Given the description of an element on the screen output the (x, y) to click on. 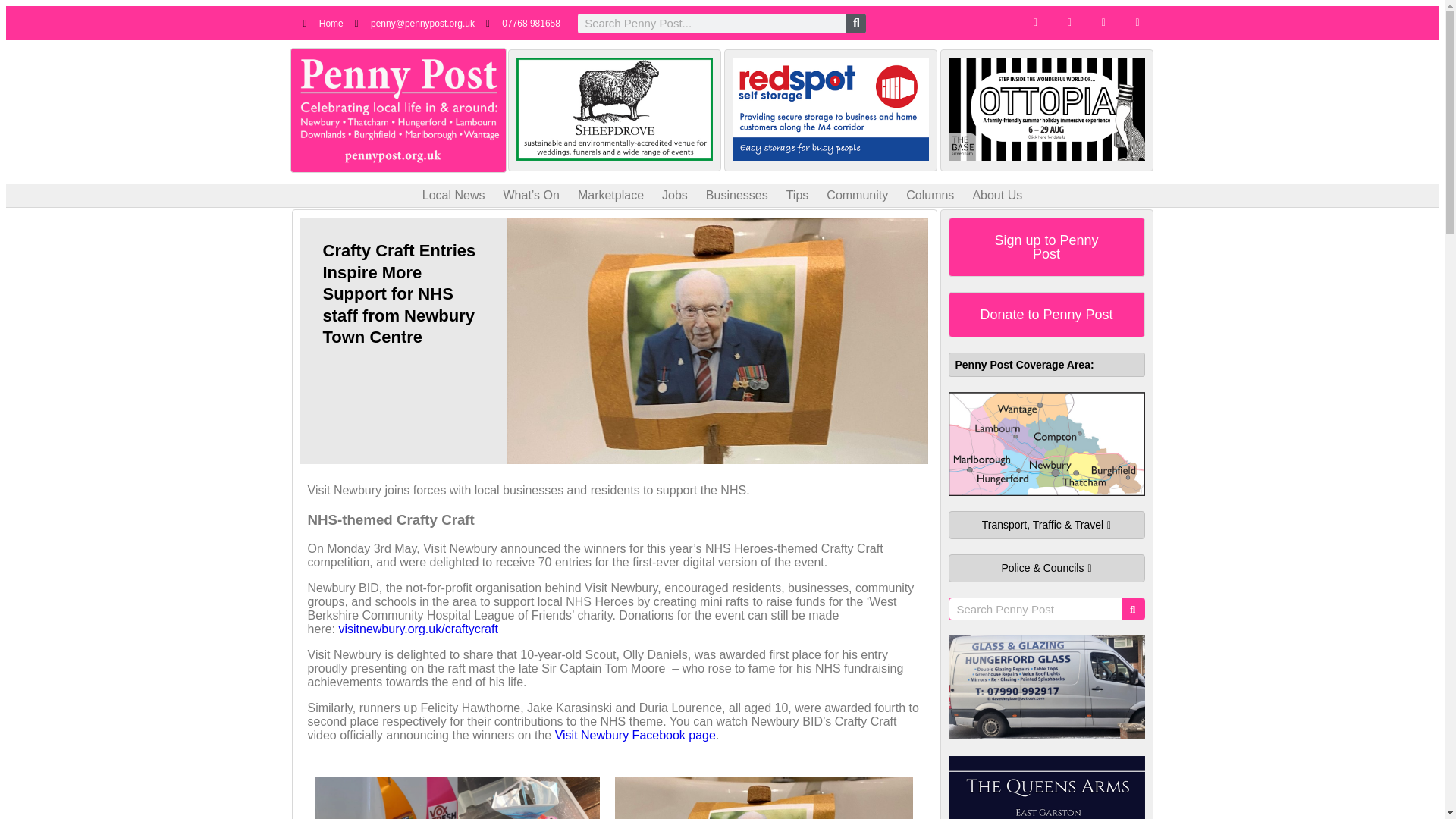
Local News (454, 195)
Home (322, 23)
